Given the description of an element on the screen output the (x, y) to click on. 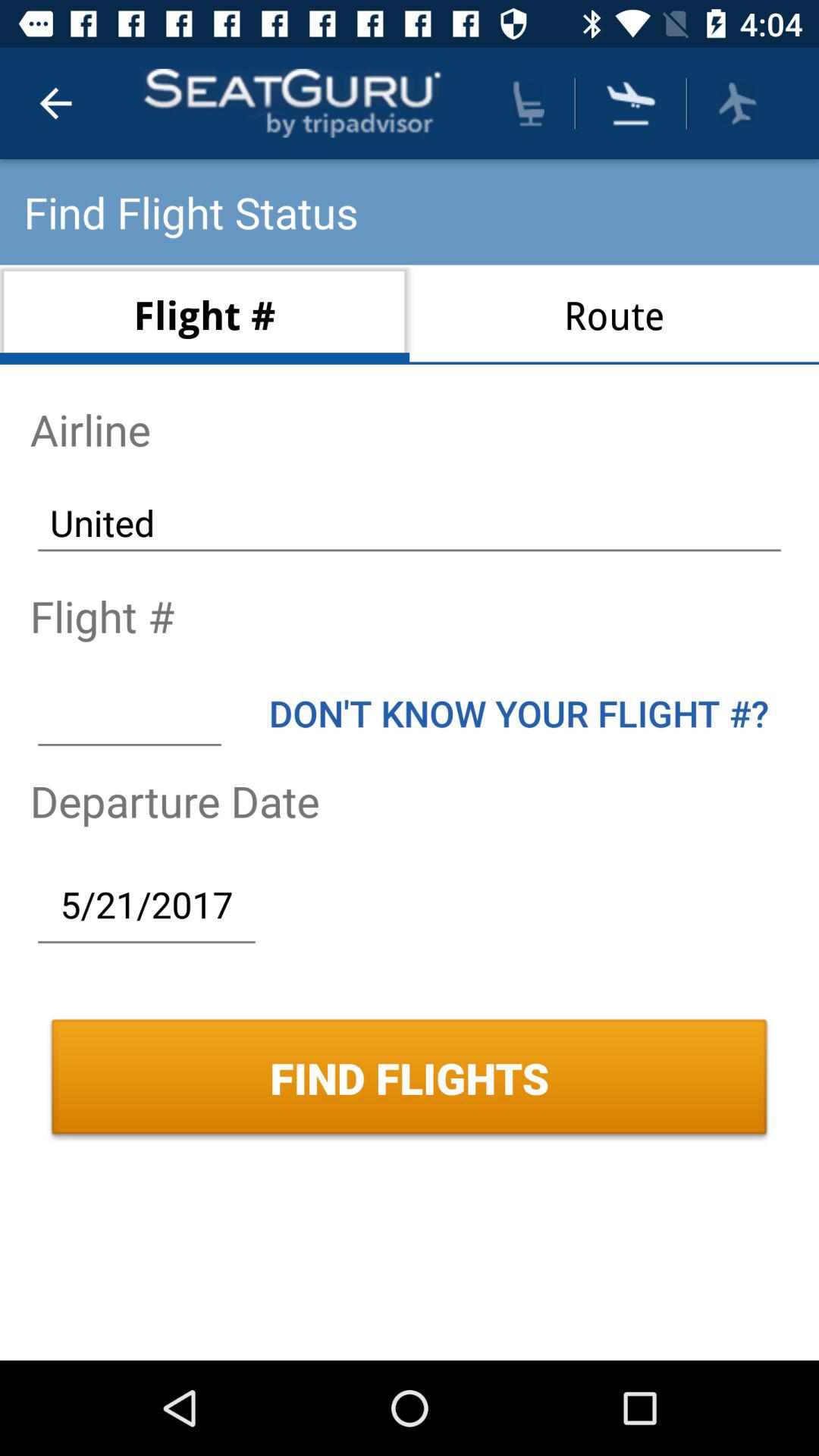
select icon to the right of flight # icon (614, 314)
